Given the description of an element on the screen output the (x, y) to click on. 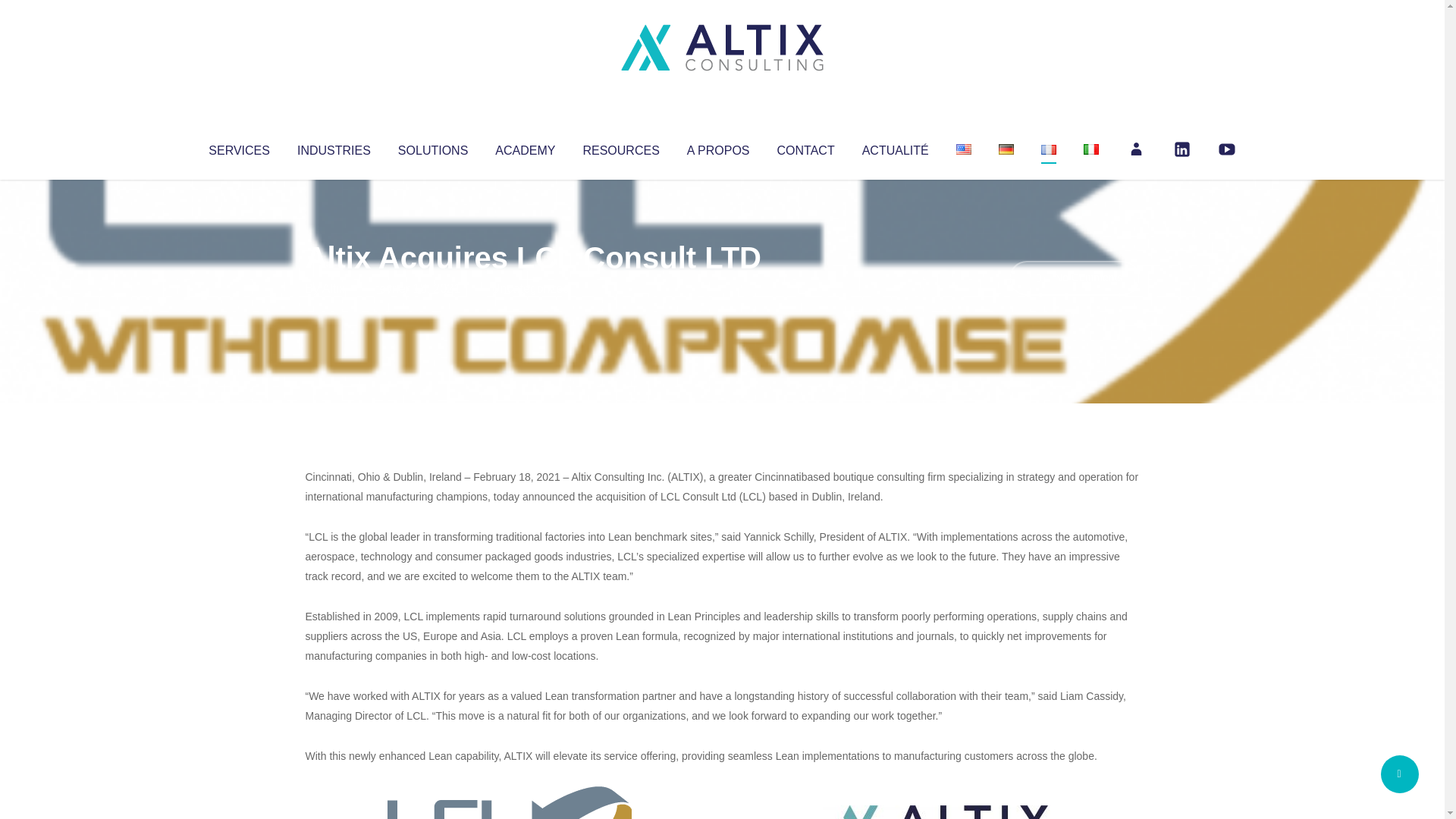
SOLUTIONS (432, 146)
RESOURCES (620, 146)
No Comments (1073, 278)
INDUSTRIES (334, 146)
Articles par Altix (333, 287)
A PROPOS (718, 146)
SERVICES (238, 146)
Uncategorized (530, 287)
ACADEMY (524, 146)
Altix (333, 287)
